Given the description of an element on the screen output the (x, y) to click on. 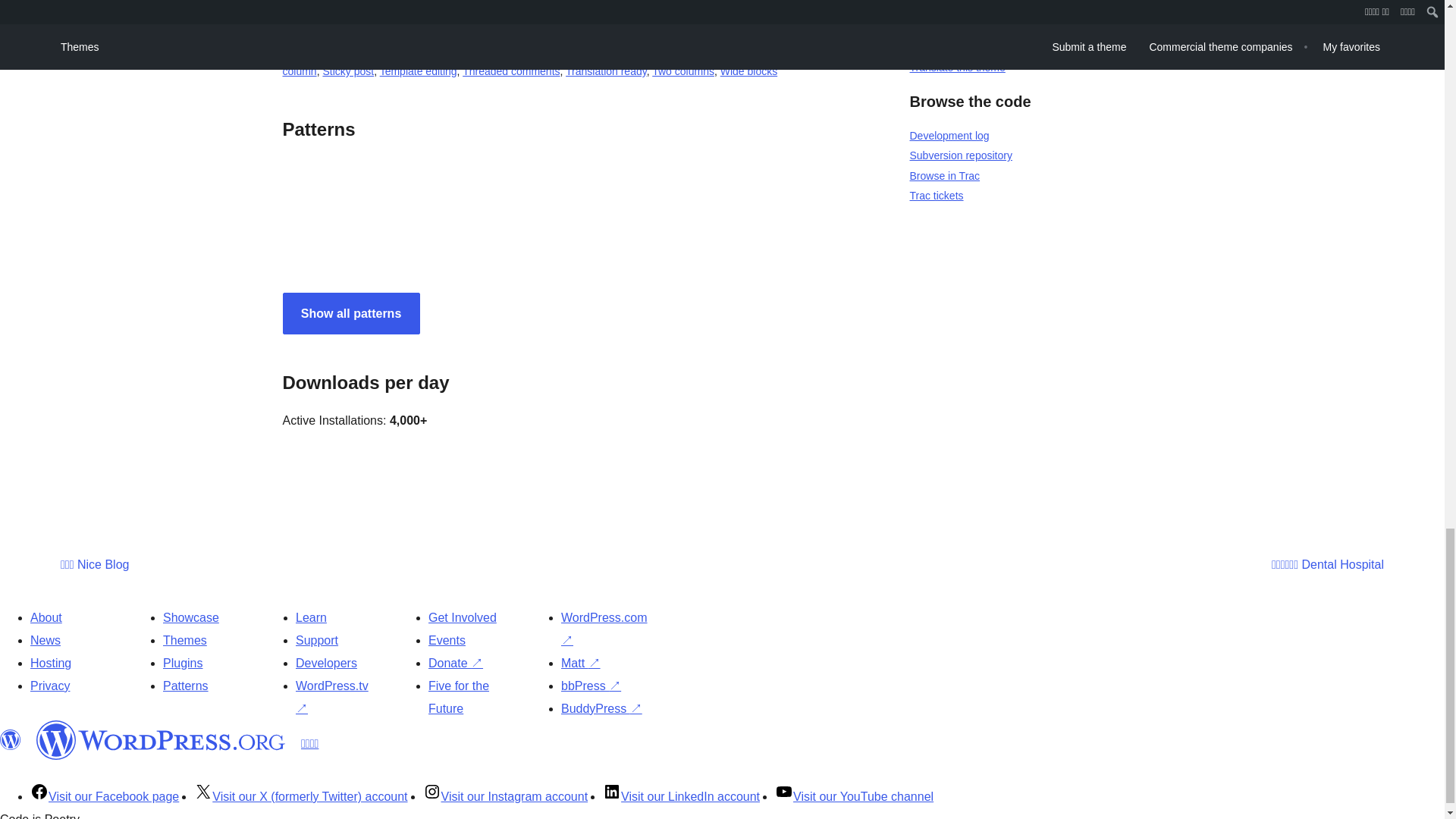
WordPress.org (10, 740)
WordPress.org (160, 740)
Block editor patterns (330, 31)
